Given the description of an element on the screen output the (x, y) to click on. 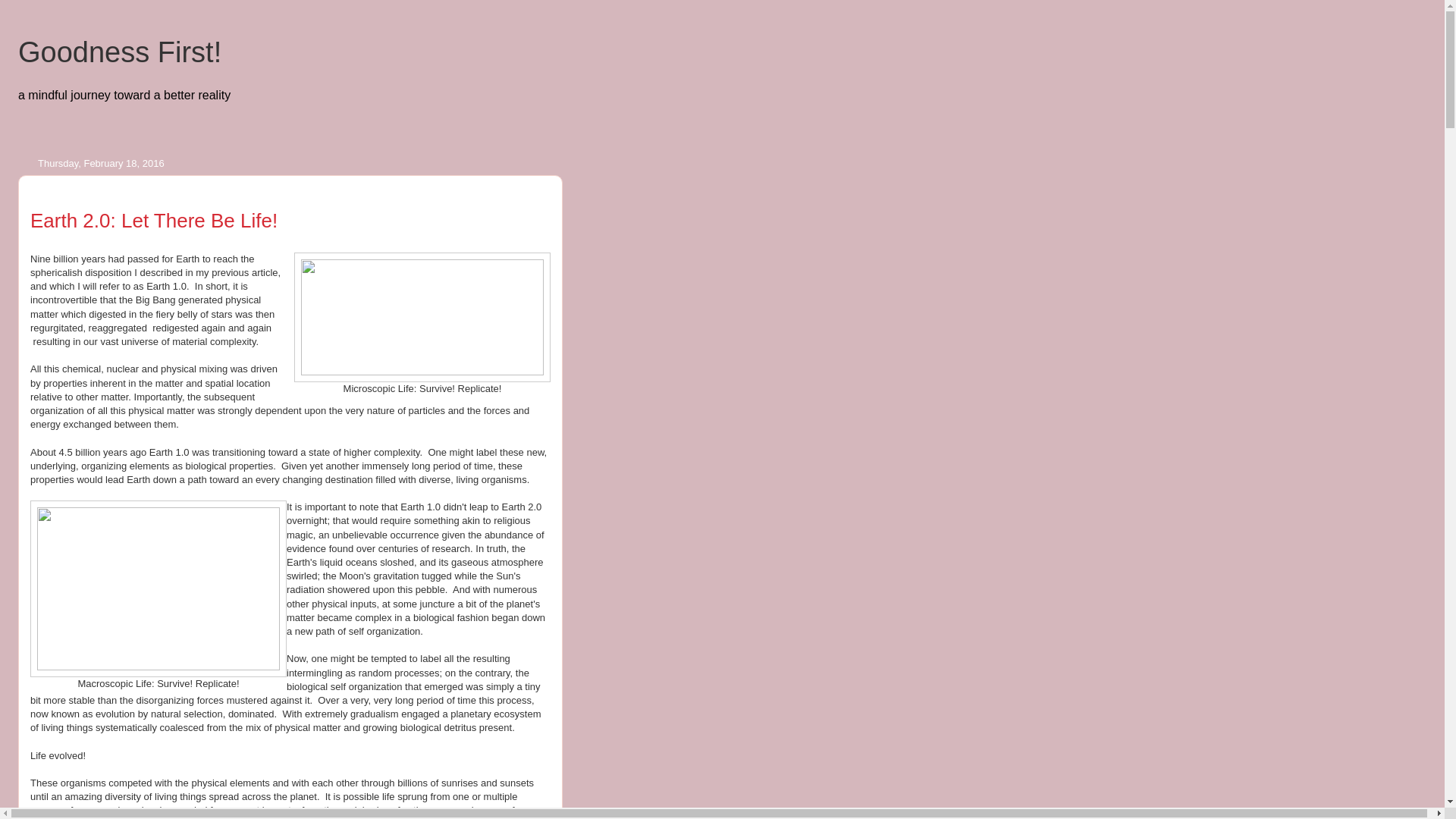
Goodness First! (119, 51)
Earth 2.0: Let There Be Life! (154, 220)
